Given the description of an element on the screen output the (x, y) to click on. 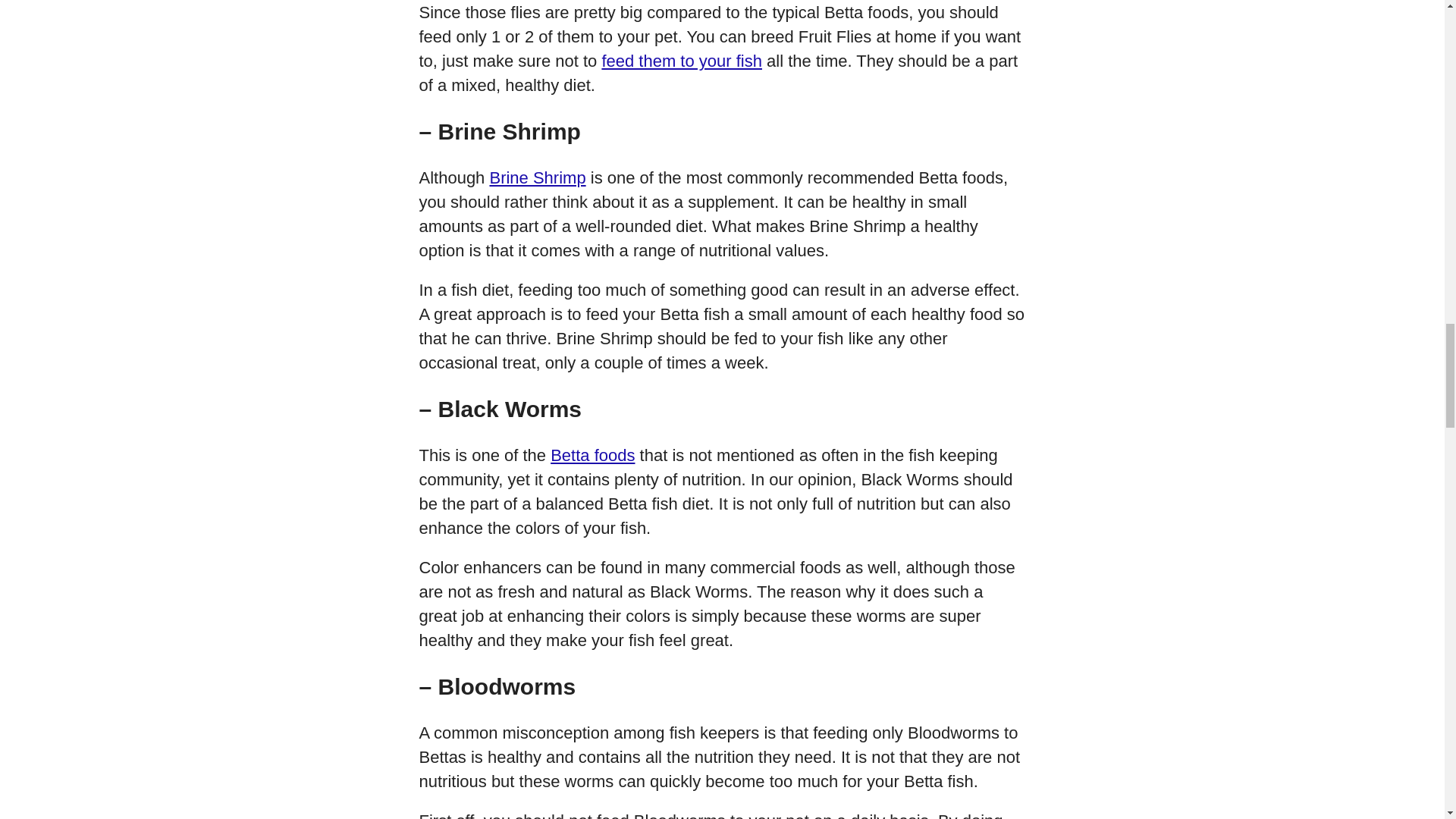
Betta foods (592, 455)
Brine Shrimp (537, 177)
feed them to your fish (681, 60)
